Given the description of an element on the screen output the (x, y) to click on. 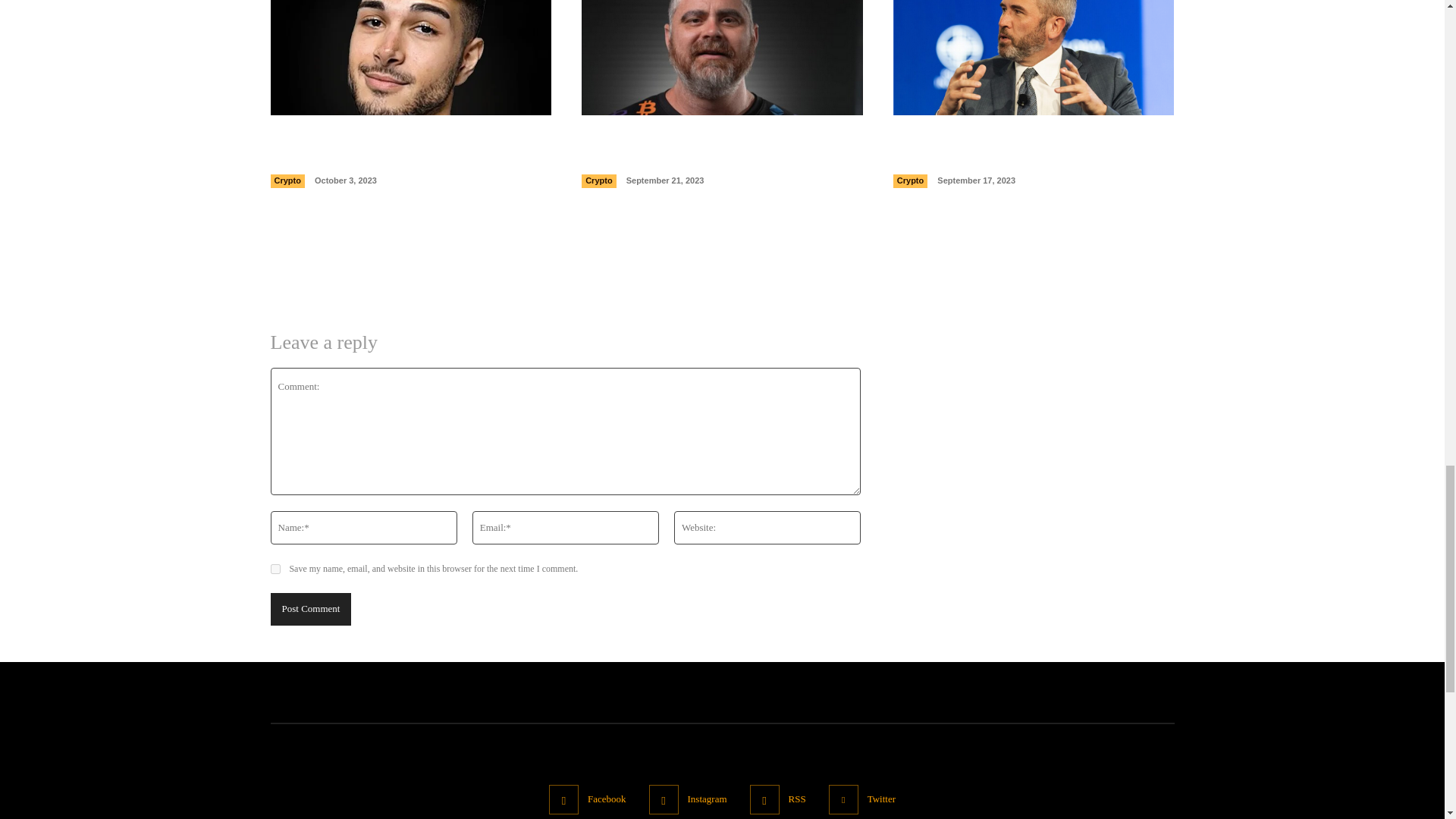
yes (274, 569)
Kian Hoss: The Rising Star in the Crypto Universe! (394, 150)
Post Comment (309, 608)
Crypto (286, 181)
